Given the description of an element on the screen output the (x, y) to click on. 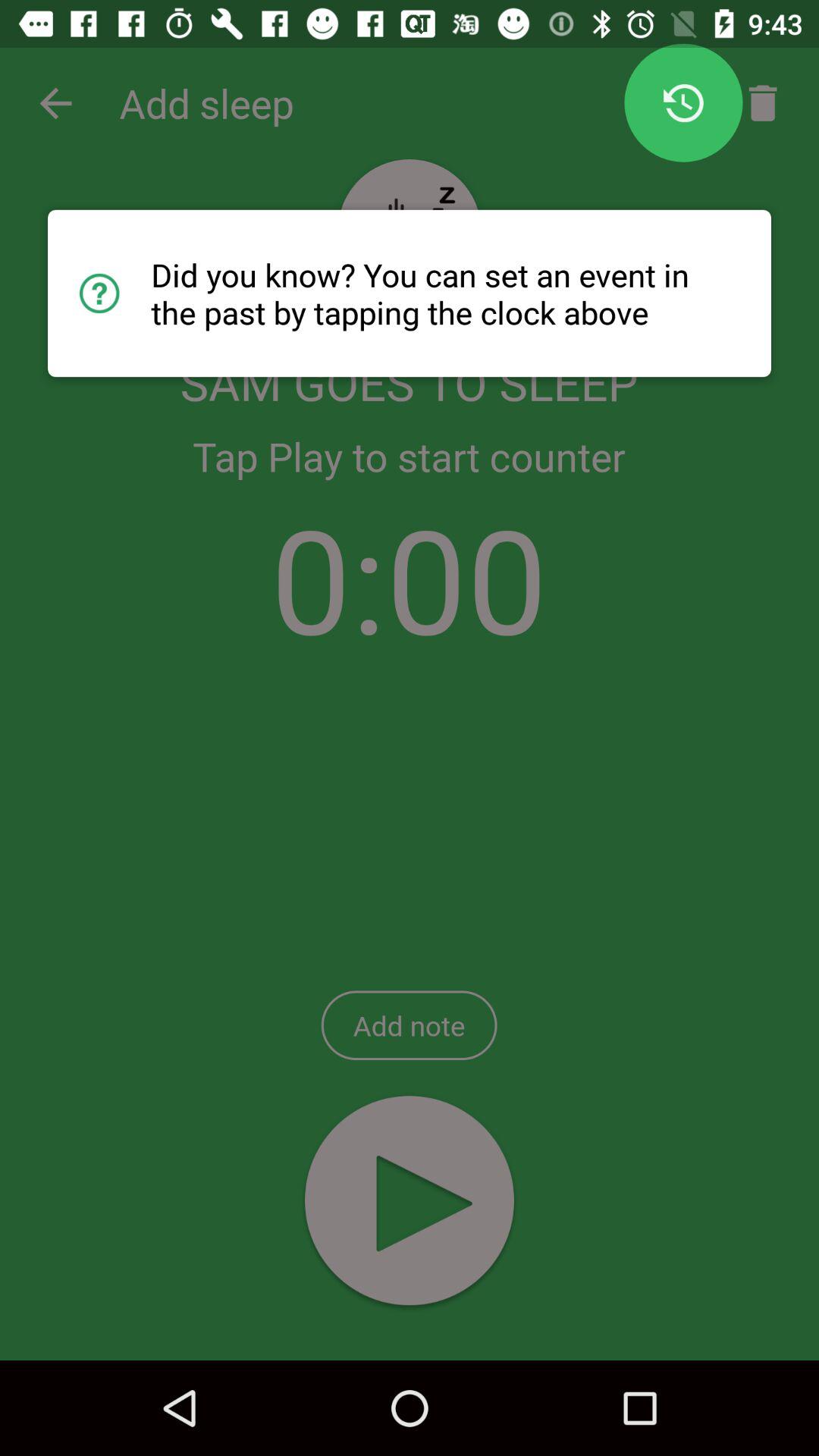
flip until add note item (409, 1025)
